Given the description of an element on the screen output the (x, y) to click on. 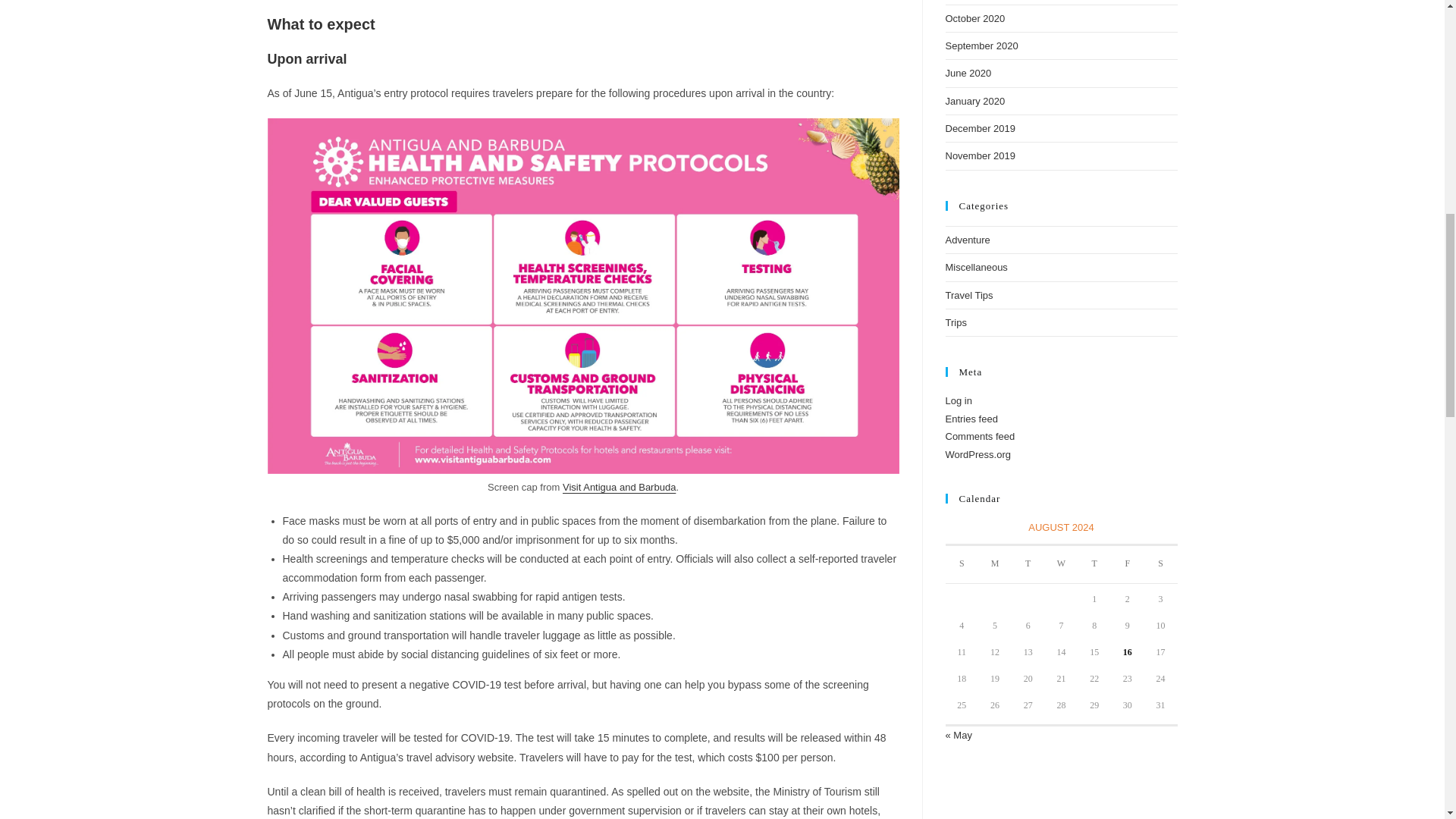
Sunday (961, 564)
Friday (1127, 564)
Monday (994, 564)
Visit Antigua and Barbuda (618, 487)
Thursday (1093, 564)
Wednesday (1061, 564)
Tuesday (1028, 564)
Saturday (1160, 564)
